Given the description of an element on the screen output the (x, y) to click on. 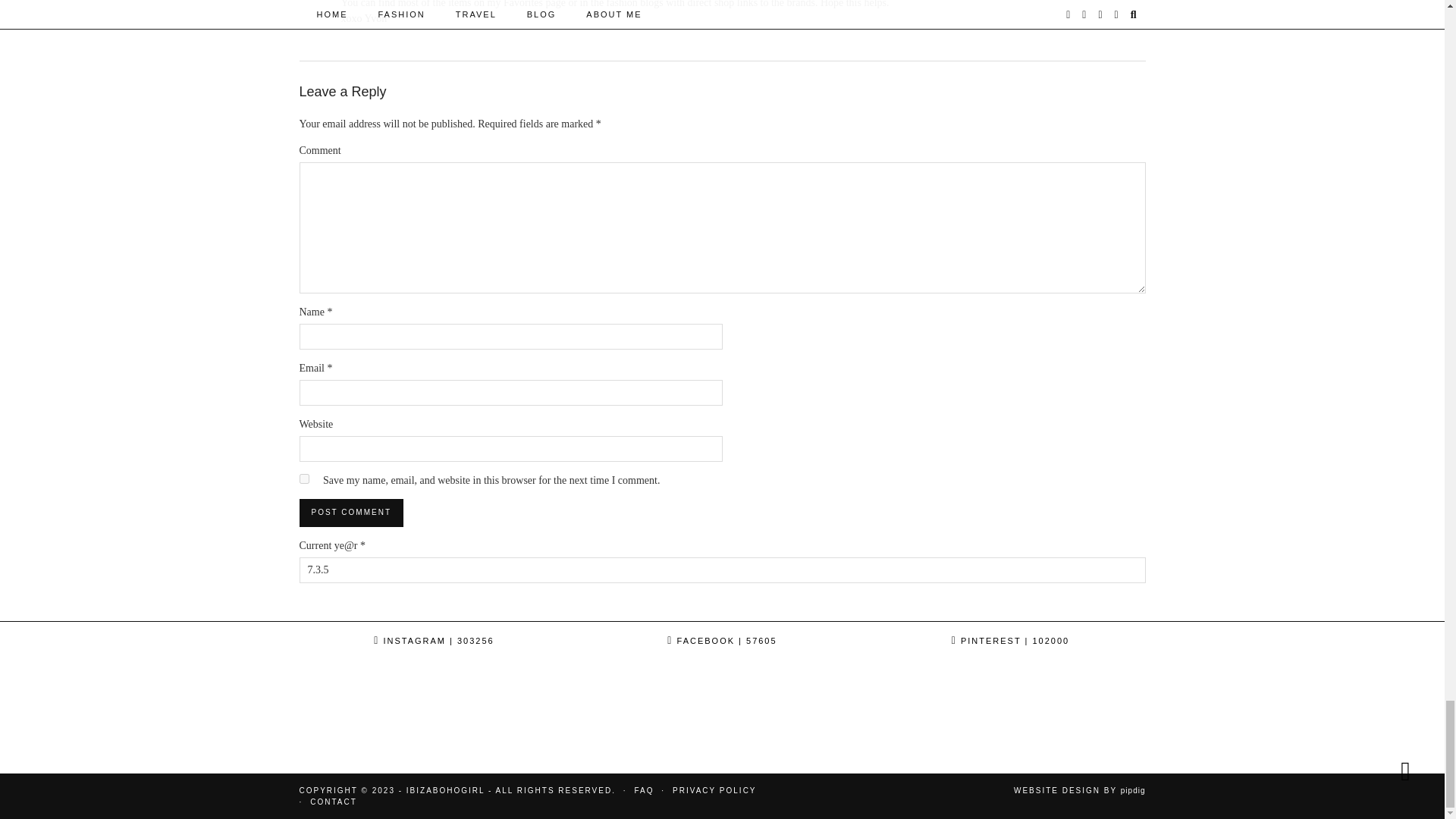
yes (303, 479)
7.3.5 (721, 570)
Post Comment (350, 512)
